Given the description of an element on the screen output the (x, y) to click on. 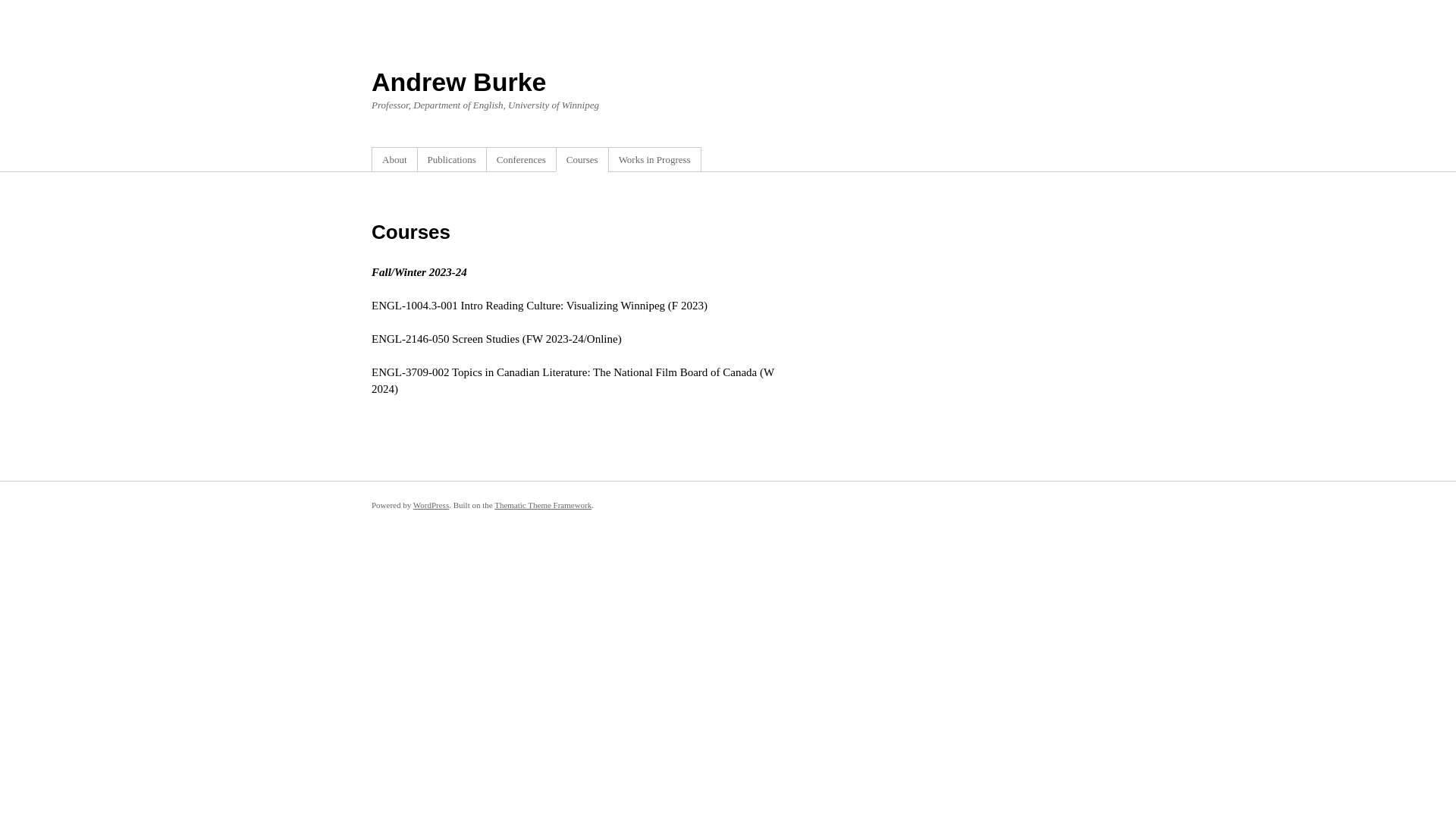
Thematic Theme Framework Element type: text (542, 504)
Publications Element type: text (451, 159)
About Element type: text (394, 159)
Andrew Burke Element type: text (458, 81)
Conferences Element type: text (521, 159)
WordPress Element type: text (430, 504)
Works in Progress Element type: text (654, 159)
Courses Element type: text (581, 159)
